Given the description of an element on the screen output the (x, y) to click on. 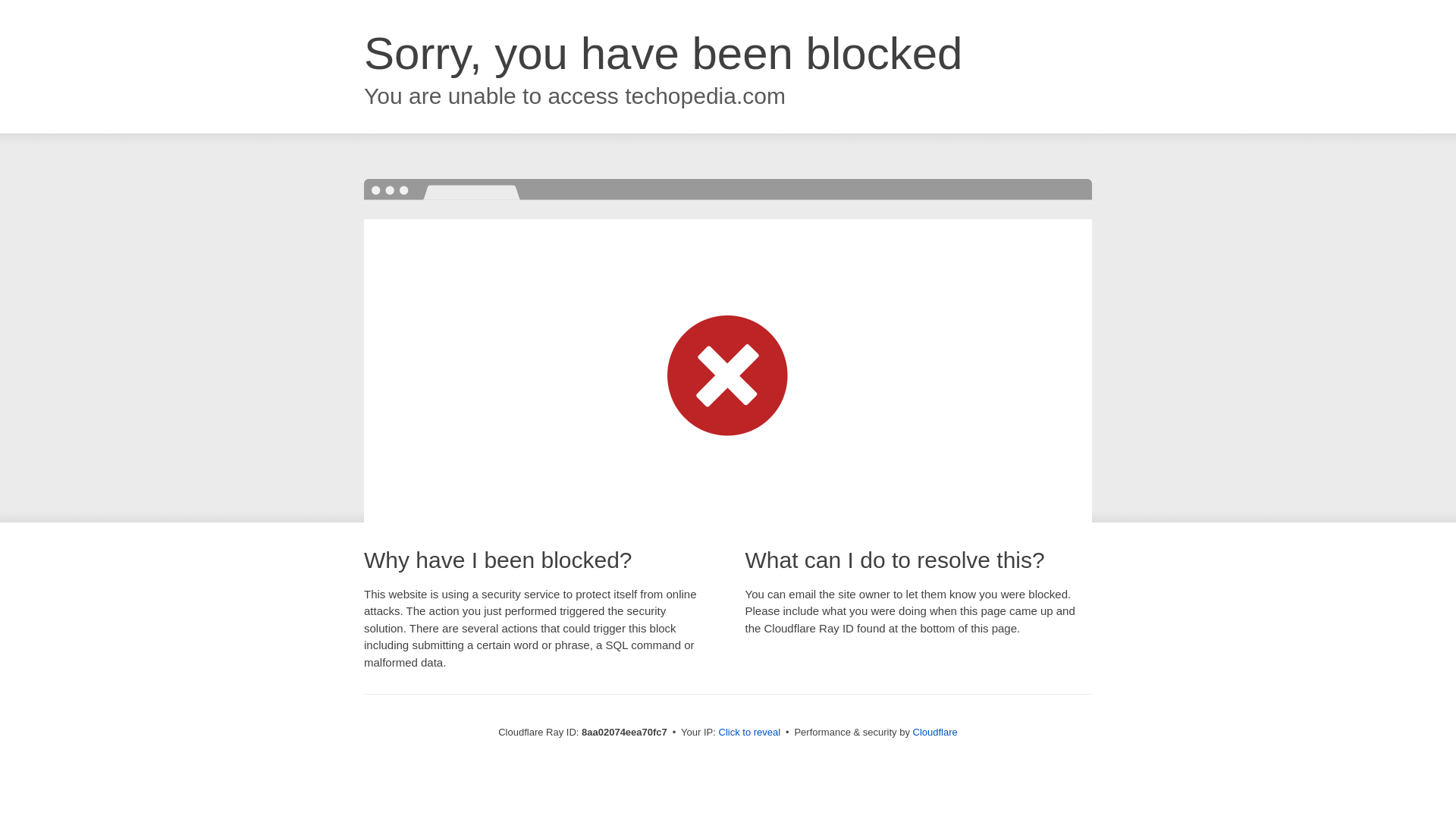
Cloudflare (935, 731)
Click to reveal (749, 732)
